Given the description of an element on the screen output the (x, y) to click on. 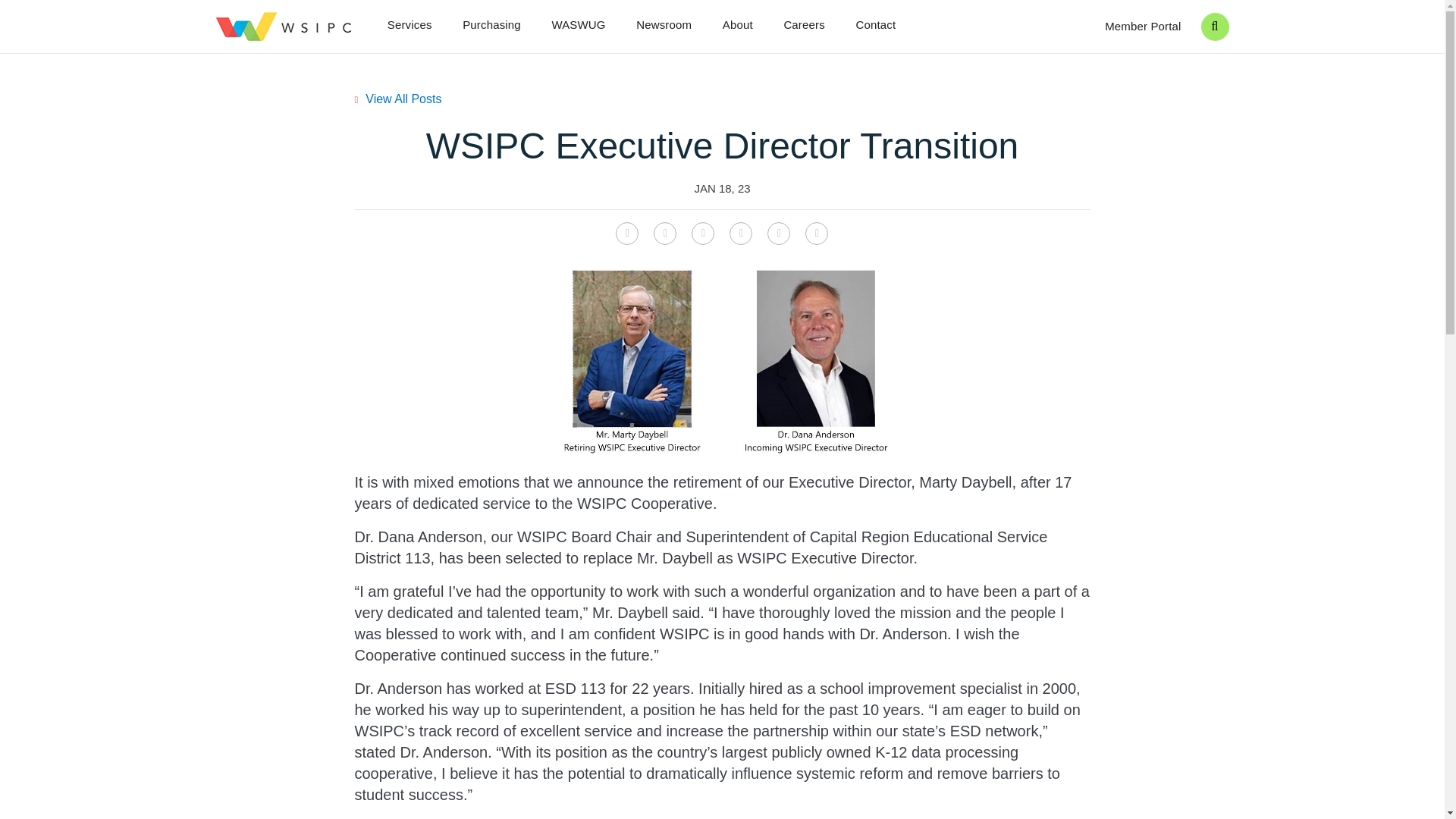
Member Login (1142, 27)
View All Posts (398, 98)
Search our Site (1214, 26)
WASWUG (578, 26)
View All Posts (398, 98)
Services (409, 26)
Search our Site (1214, 26)
Newsroom (663, 26)
Purchasing (492, 26)
Copy Link (816, 232)
Contact (875, 26)
Member Portal (1142, 27)
About (737, 26)
Careers (803, 26)
